Given the description of an element on the screen output the (x, y) to click on. 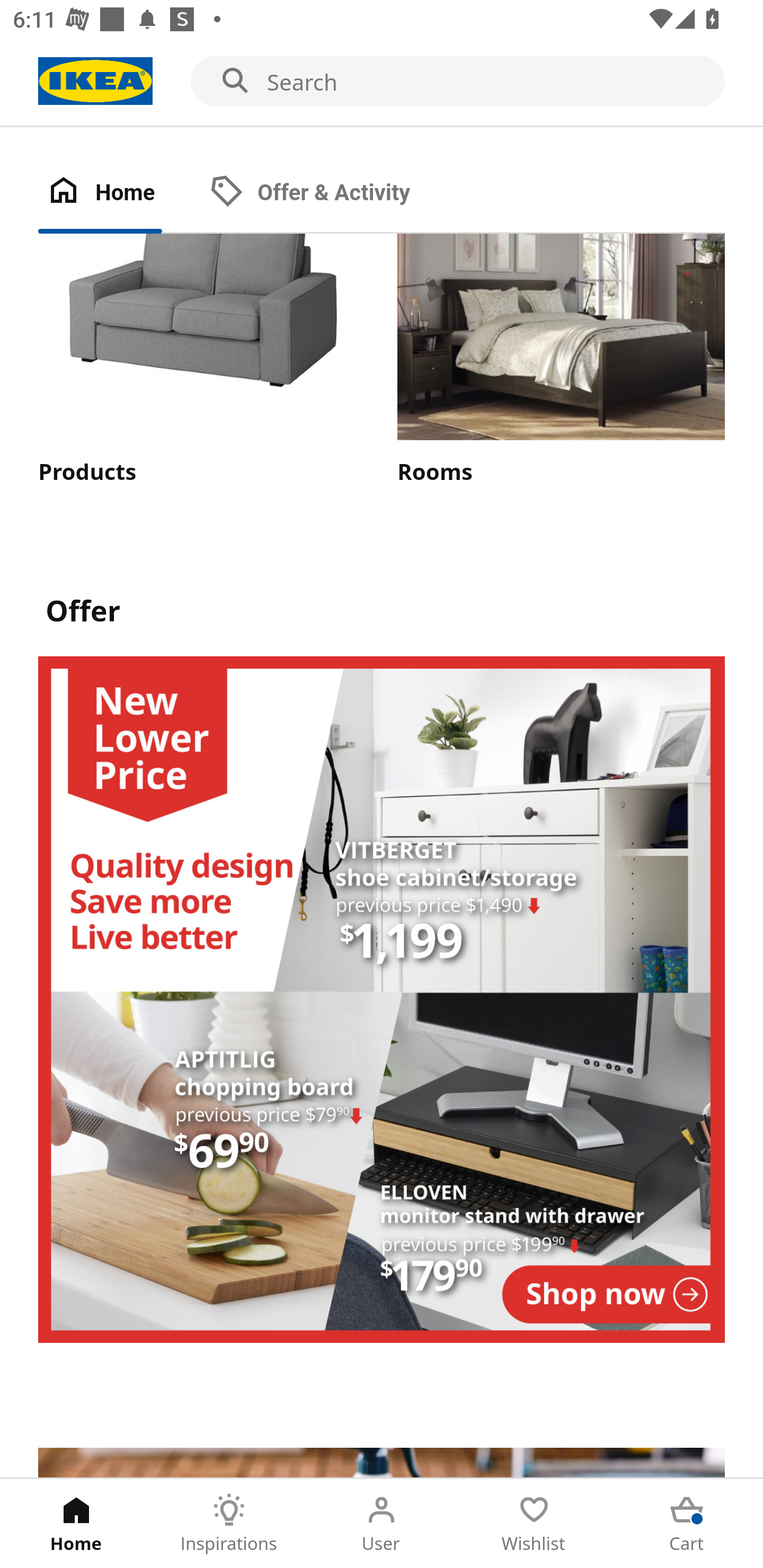
Search (381, 81)
Home
Tab 1 of 2 (118, 192)
Offer & Activity
Tab 2 of 2 (327, 192)
Products (201, 360)
Rooms (560, 360)
Home
Tab 1 of 5 (76, 1522)
Inspirations
Tab 2 of 5 (228, 1522)
User
Tab 3 of 5 (381, 1522)
Wishlist
Tab 4 of 5 (533, 1522)
Cart
Tab 5 of 5 (686, 1522)
